Given the description of an element on the screen output the (x, y) to click on. 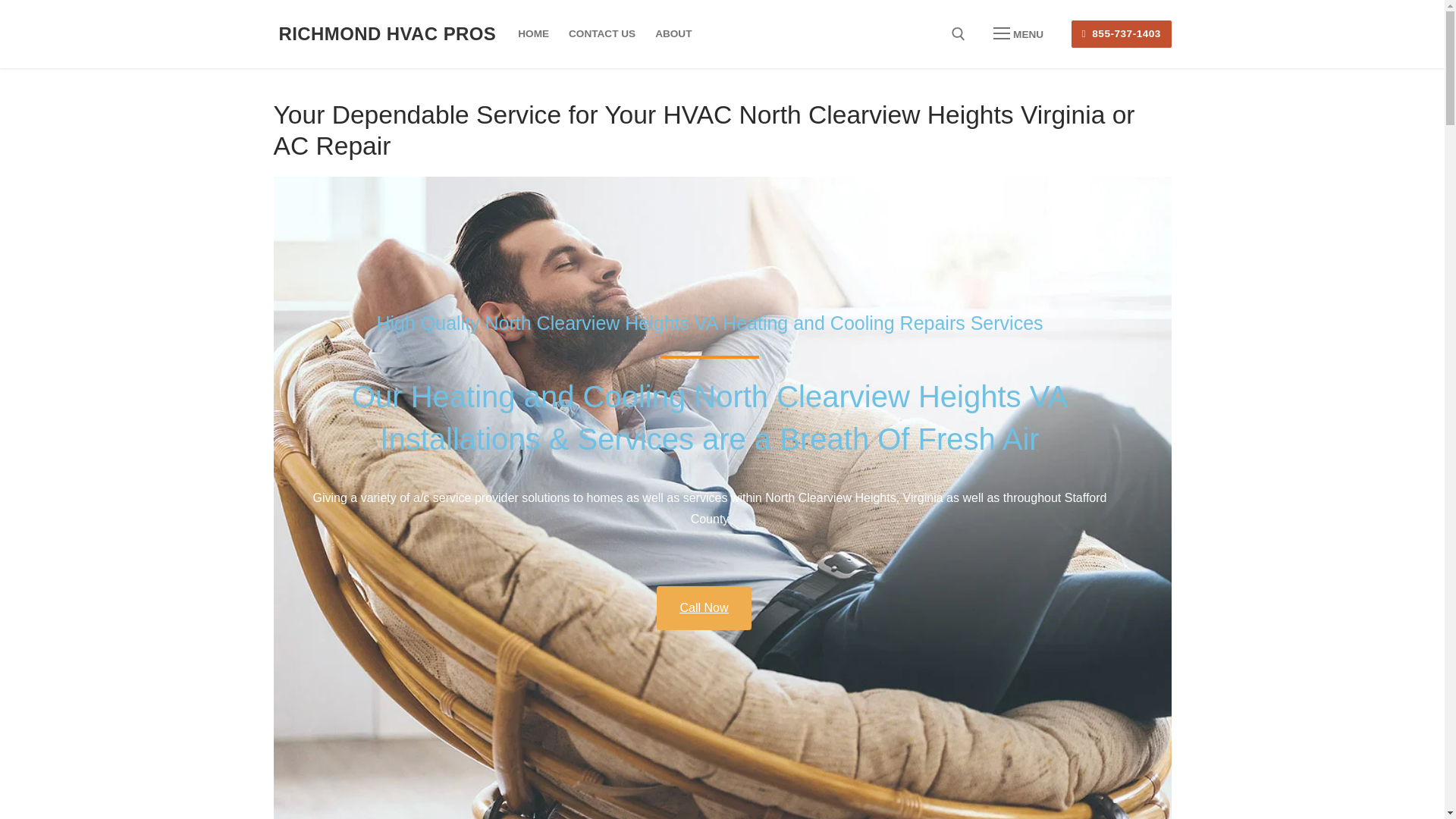
ABOUT (673, 33)
Call Now (703, 607)
RICHMOND HVAC PROS (387, 33)
MENU (1017, 33)
CONTACT US (602, 33)
855-737-1403 (1121, 34)
HOME (533, 33)
